Given the description of an element on the screen output the (x, y) to click on. 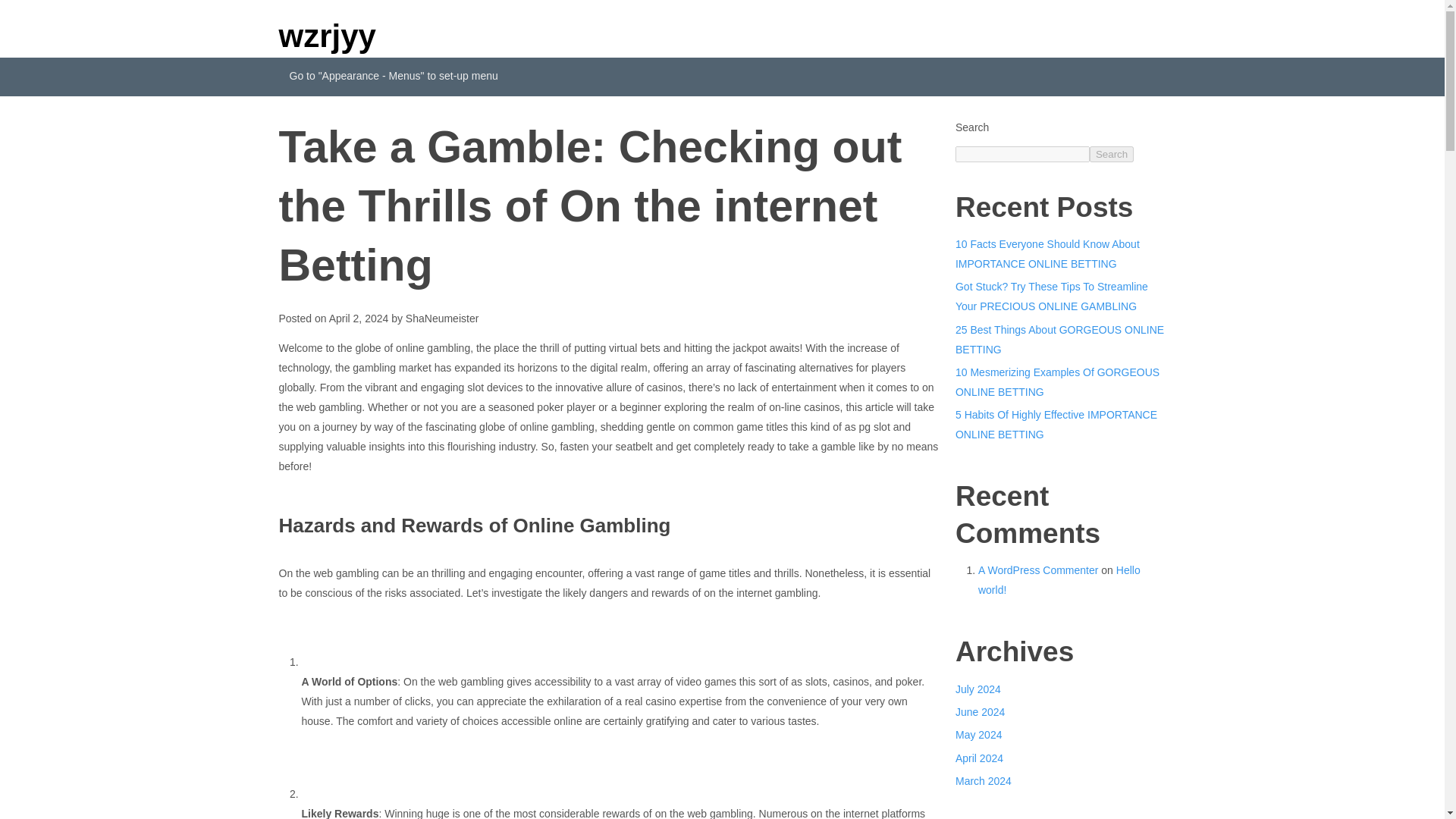
A WordPress Commenter (1037, 570)
5 Habits Of Highly Effective IMPORTANCE ONLINE BETTING (1056, 424)
25 Best Things About GORGEOUS ONLINE BETTING (1059, 339)
ShaNeumeister (442, 318)
July 2024 (978, 688)
May 2024 (978, 734)
Hello world! (1059, 580)
10 Mesmerizing Examples Of GORGEOUS ONLINE BETTING (1056, 382)
April 2, 2024 (358, 318)
April 2024 (979, 758)
Go to "Appearance - Menus" to set-up menu (393, 76)
March 2024 (983, 780)
wzrjyy (327, 36)
June 2024 (979, 711)
